Given the description of an element on the screen output the (x, y) to click on. 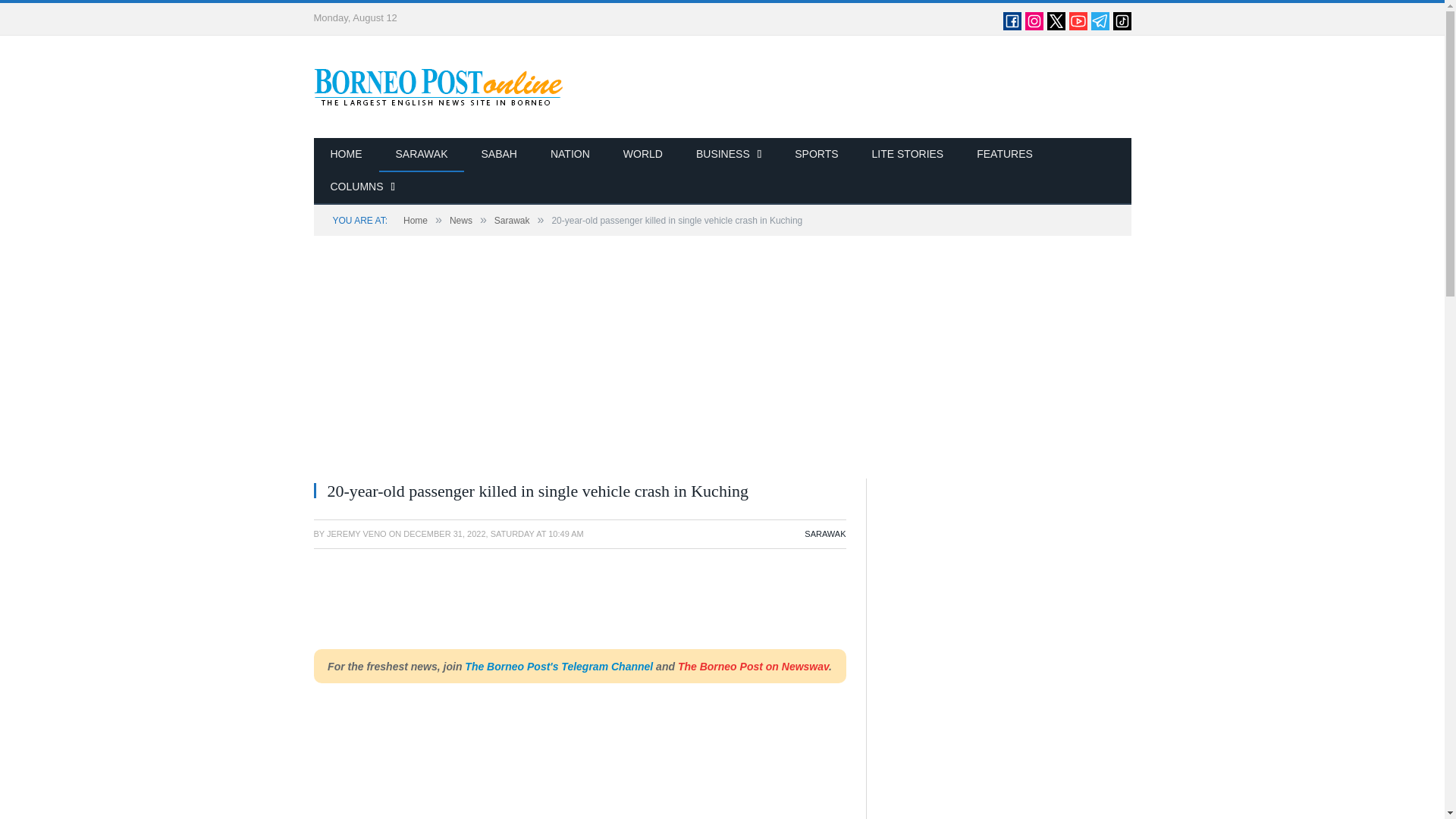
3rd party ad content (590, 604)
Twitter (1055, 26)
3rd party ad content (855, 87)
Facebook (1011, 26)
2022-12-31 (493, 533)
Sarawak (512, 220)
SABAH (498, 154)
WORLD (643, 154)
LITE STORIES (908, 154)
